Given the description of an element on the screen output the (x, y) to click on. 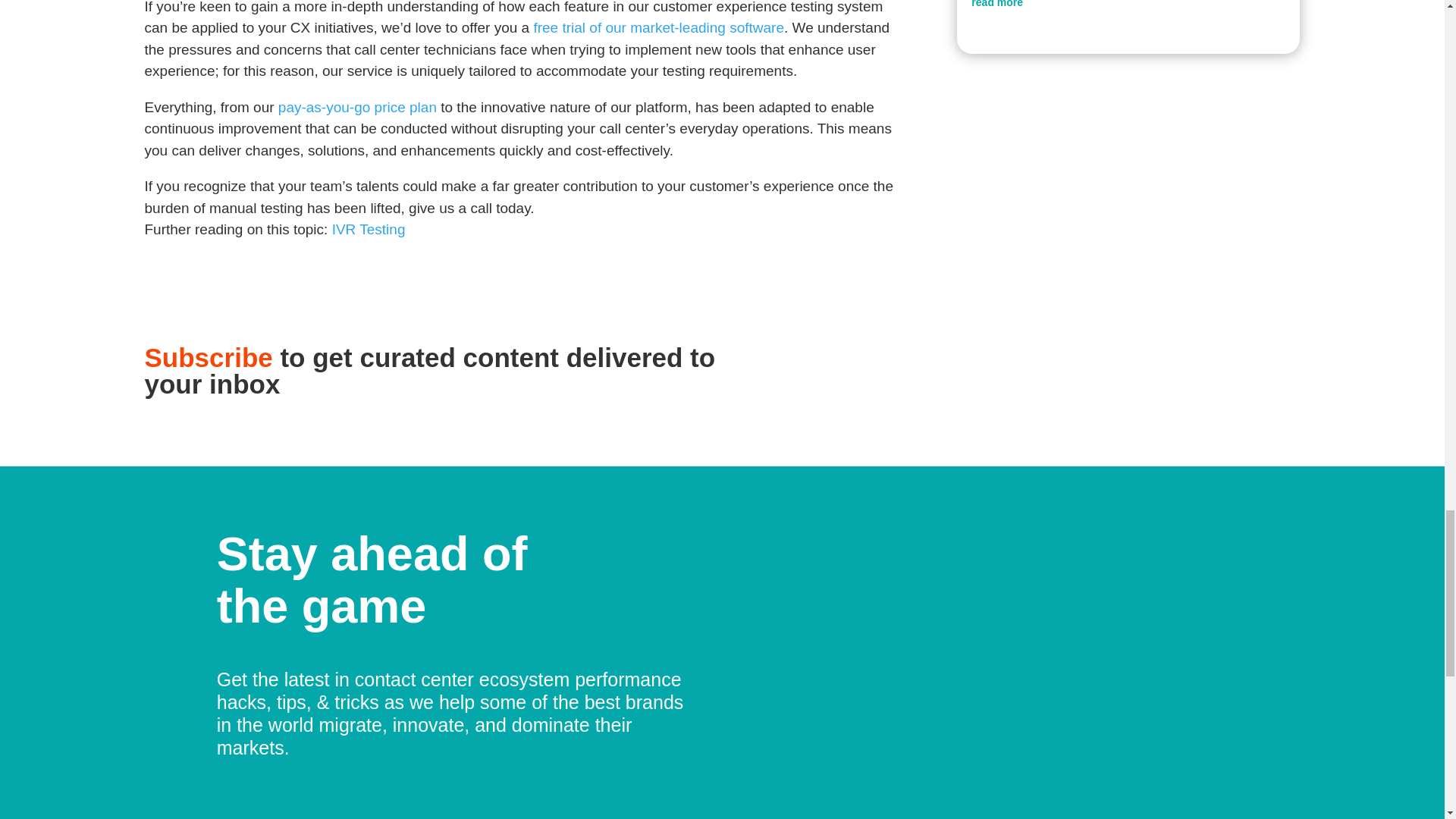
free trial of our market-leading software (656, 27)
IVR Testing (368, 229)
pay-as-you-go price plan (357, 107)
